Given the description of an element on the screen output the (x, y) to click on. 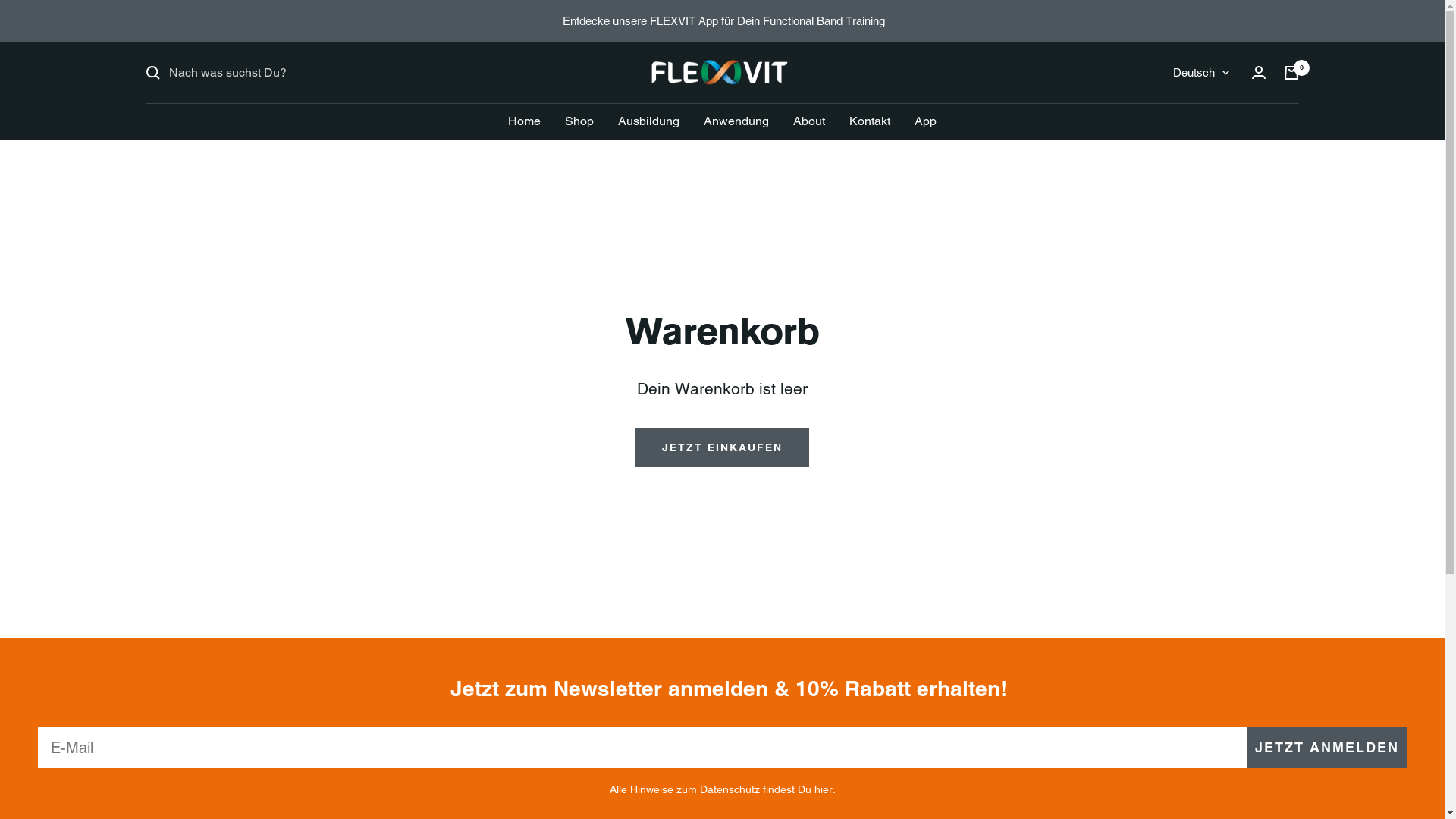
0 Element type: text (1290, 72)
Deutsch Element type: text (1200, 72)
About Element type: text (809, 120)
Anwendung Element type: text (735, 120)
Kontakt Element type: text (869, 120)
Ausbildung Element type: text (648, 120)
Home Element type: text (524, 120)
hier. Element type: text (824, 789)
JETZT EINKAUFEN Element type: text (722, 447)
JETZT ANMELDEN Element type: text (1326, 747)
de Element type: text (1193, 126)
Shop Element type: text (578, 120)
Submit Element type: text (18, 7)
en Element type: text (1193, 152)
FLEXVIT - Bands Reloaded Element type: text (722, 72)
App Element type: text (925, 120)
